Given the description of an element on the screen output the (x, y) to click on. 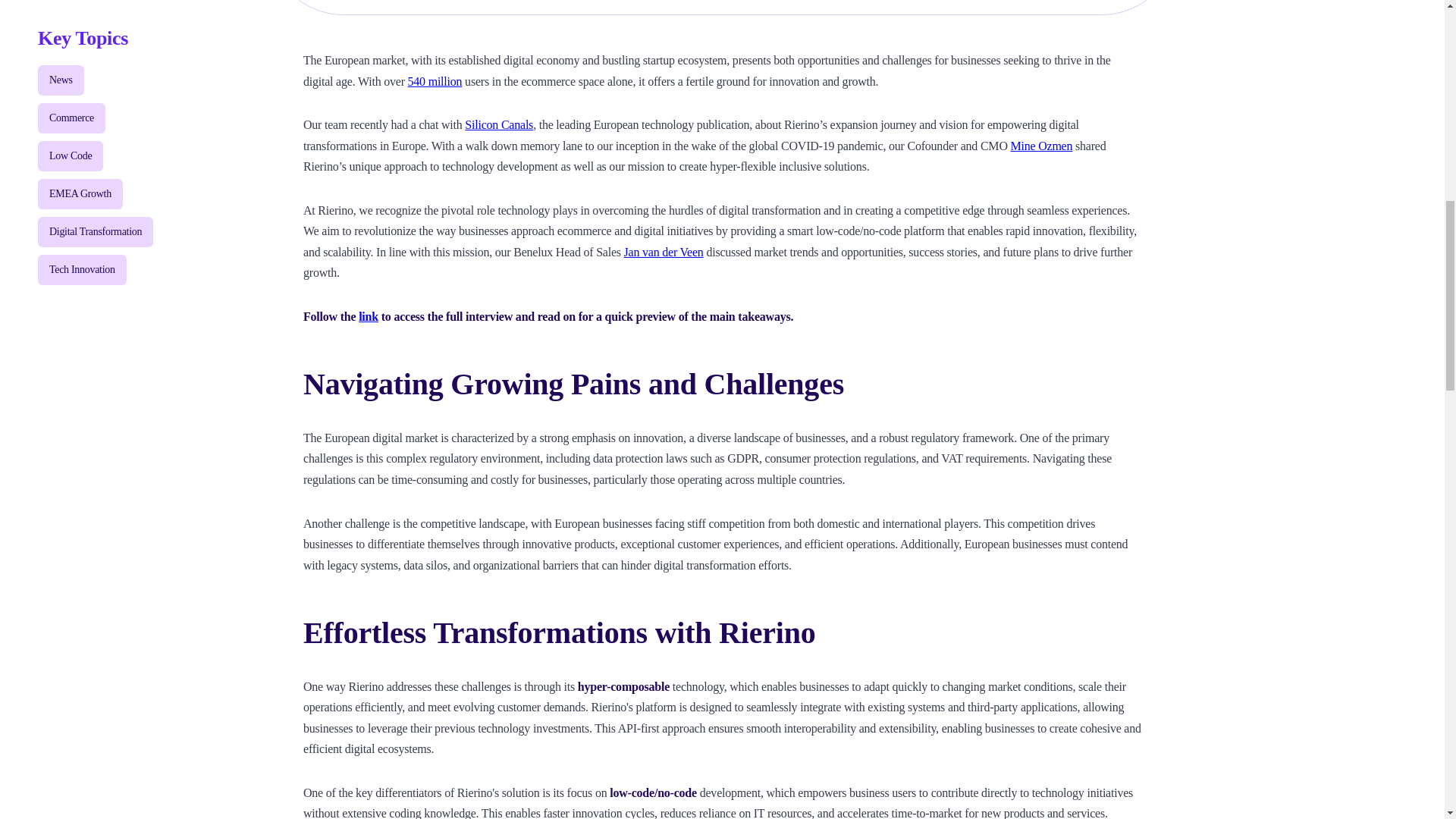
Silicon Canals (498, 124)
540 million (435, 81)
link (368, 316)
Mine Ozmen (1040, 145)
Jan van der Veen (663, 251)
